Given the description of an element on the screen output the (x, y) to click on. 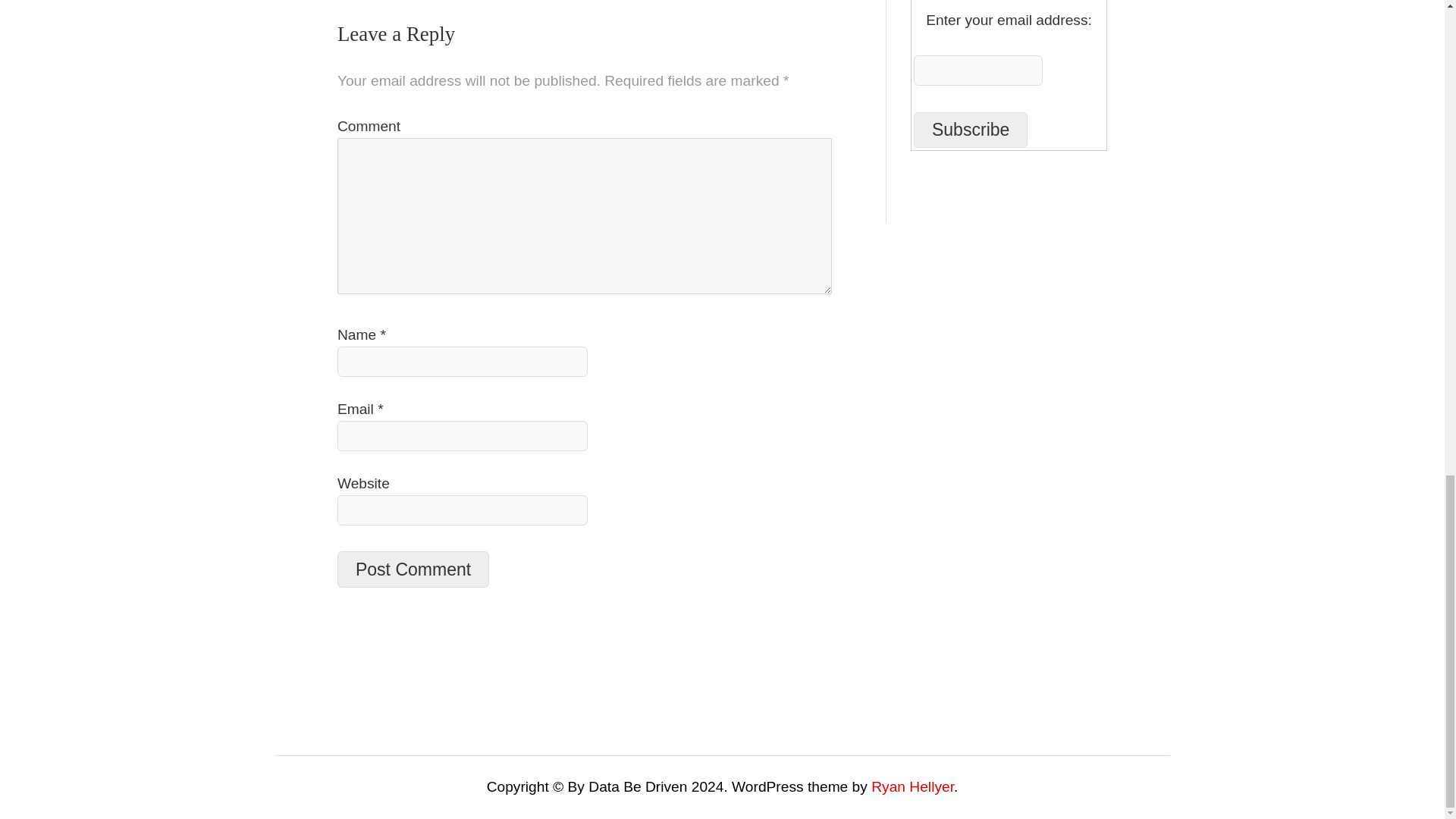
Post Comment (413, 569)
Subscribe (970, 130)
Post Comment (413, 569)
Ryan Hellyer (911, 786)
Subscribe (970, 130)
Ryan Hellyer (911, 786)
